Given the description of an element on the screen output the (x, y) to click on. 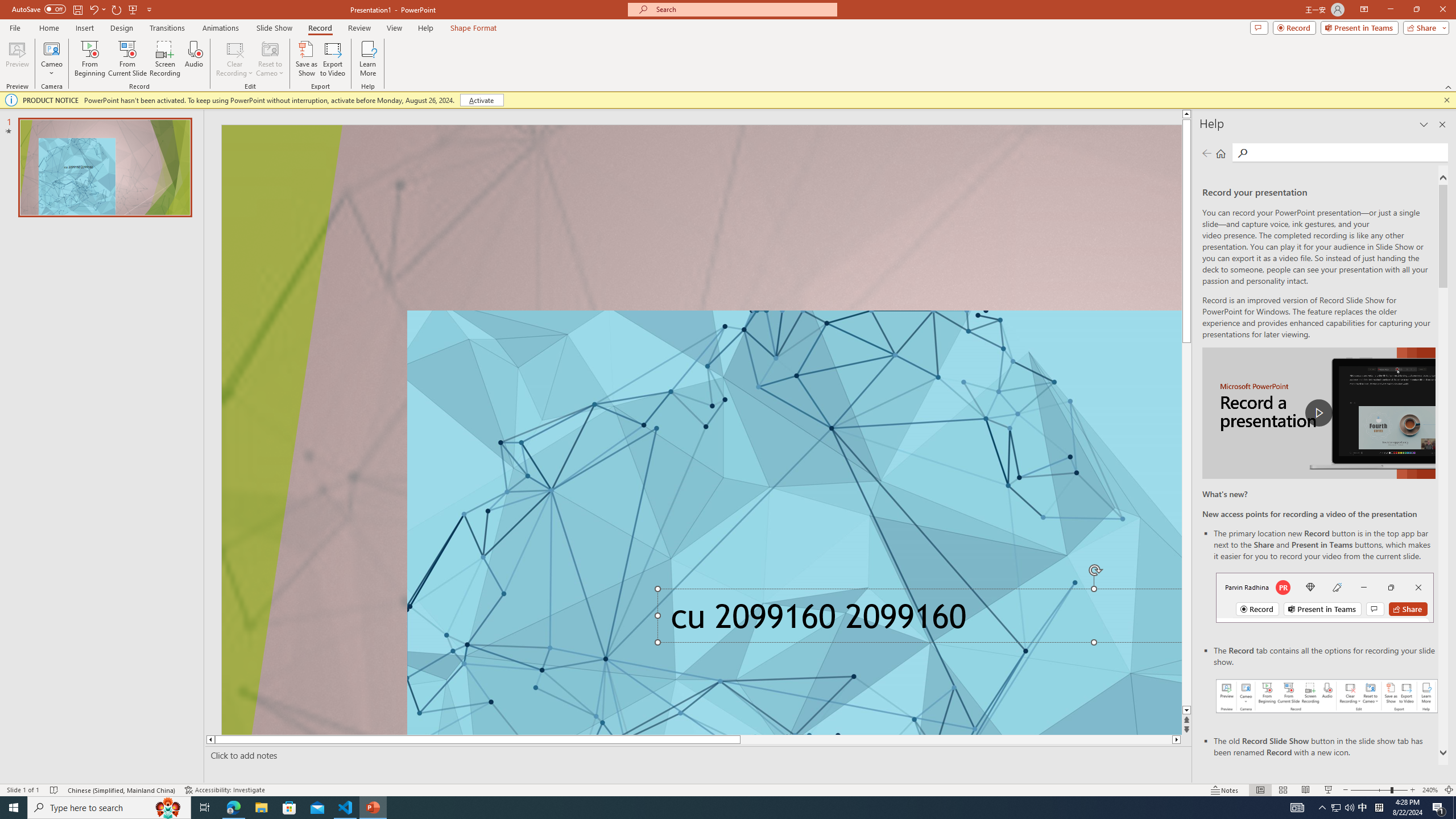
Close this message (1446, 99)
Help (425, 28)
Present in Teams (1359, 27)
From Beginning... (89, 58)
Save as Show (306, 58)
Zoom 240% (1430, 790)
Share (1423, 27)
More Options (51, 68)
Search (1347, 151)
Record your presentations screenshot one (1326, 695)
System (6, 6)
AutoSave (38, 9)
Record button in top bar (1324, 597)
Record (1294, 27)
